Given the description of an element on the screen output the (x, y) to click on. 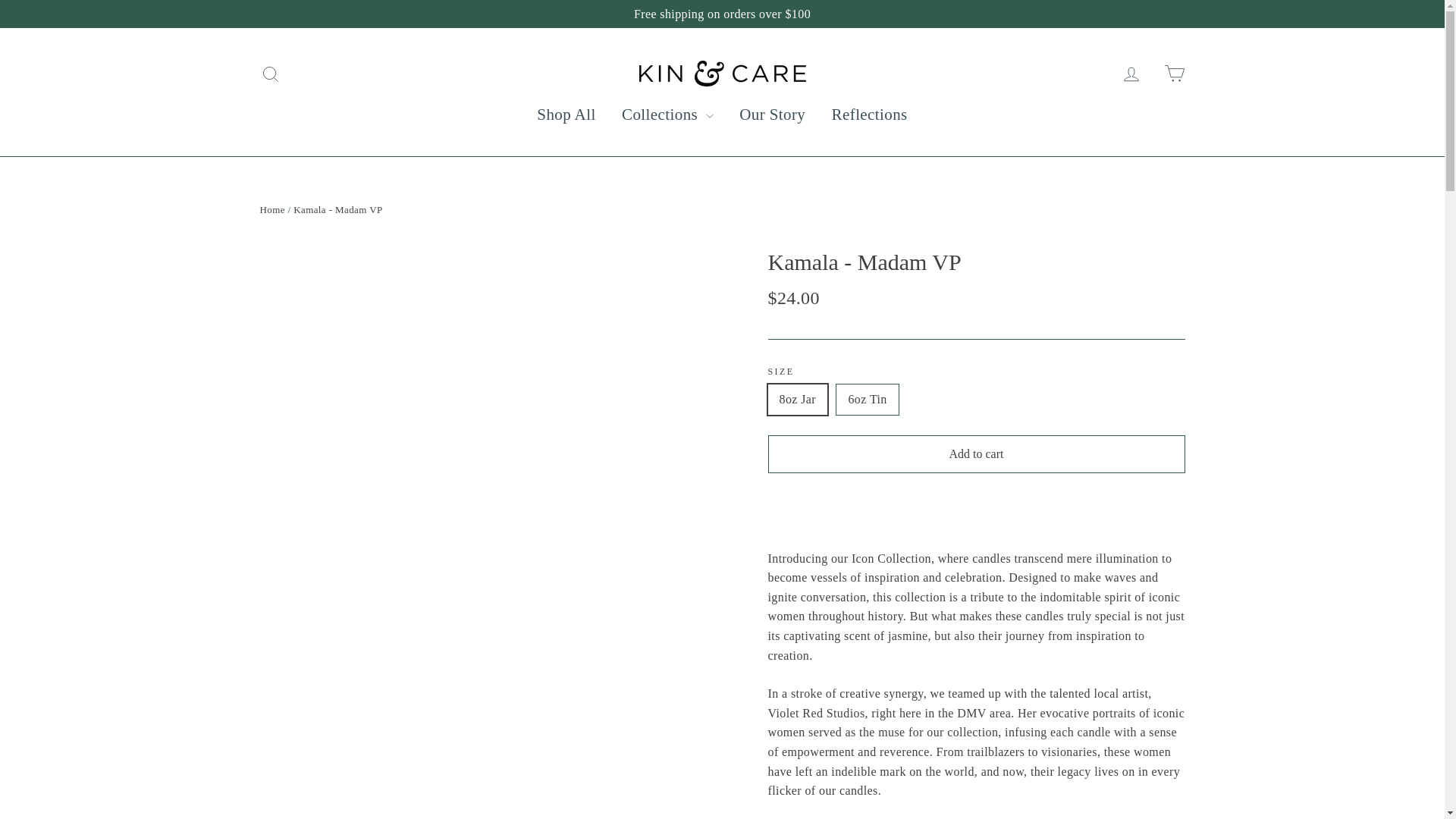
Our Story (772, 114)
Collections (667, 114)
Shop All (566, 114)
Back to the frontpage (271, 209)
Cart (1173, 72)
Search (269, 73)
Reflections (869, 114)
Log in (1131, 73)
